Given the description of an element on the screen output the (x, y) to click on. 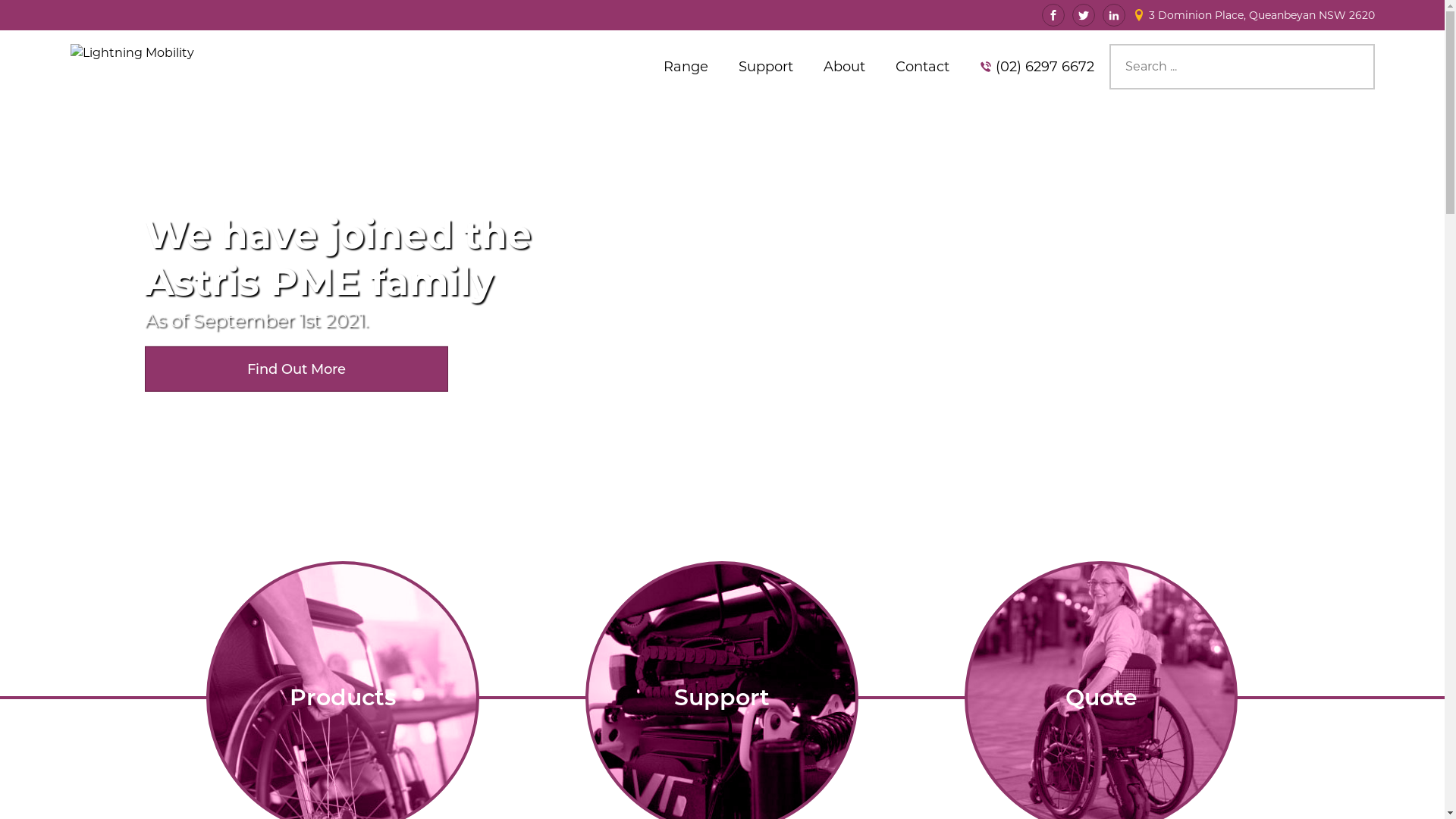
Contact Element type: text (921, 66)
(02) 6297 6672 Element type: text (1043, 66)
3 Dominion Place, Queanbeyan NSW 2620 Element type: text (1261, 15)
Support Element type: text (765, 66)
About Element type: text (844, 66)
Find Out More Element type: text (295, 369)
Range Element type: text (684, 66)
